Given the description of an element on the screen output the (x, y) to click on. 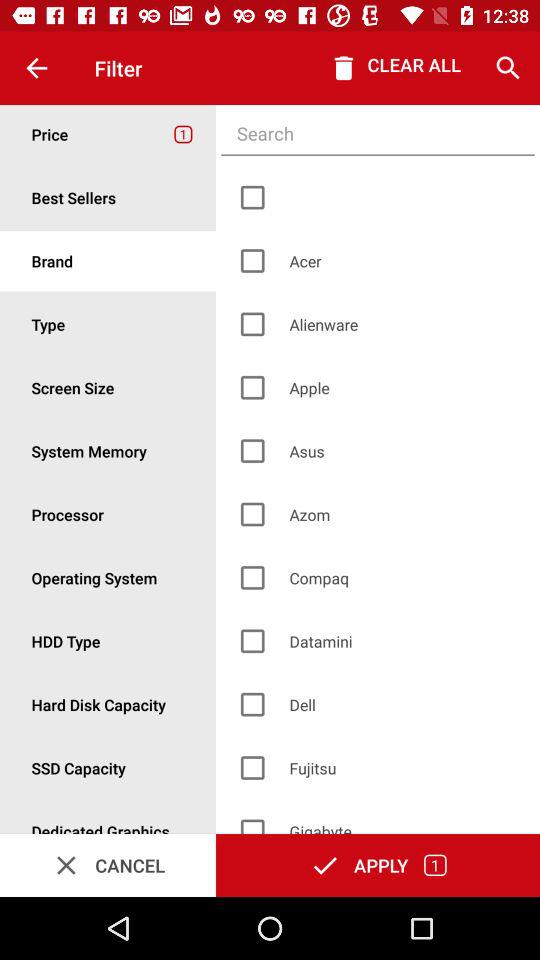
click the item to the left of the filter (36, 68)
